Given the description of an element on the screen output the (x, y) to click on. 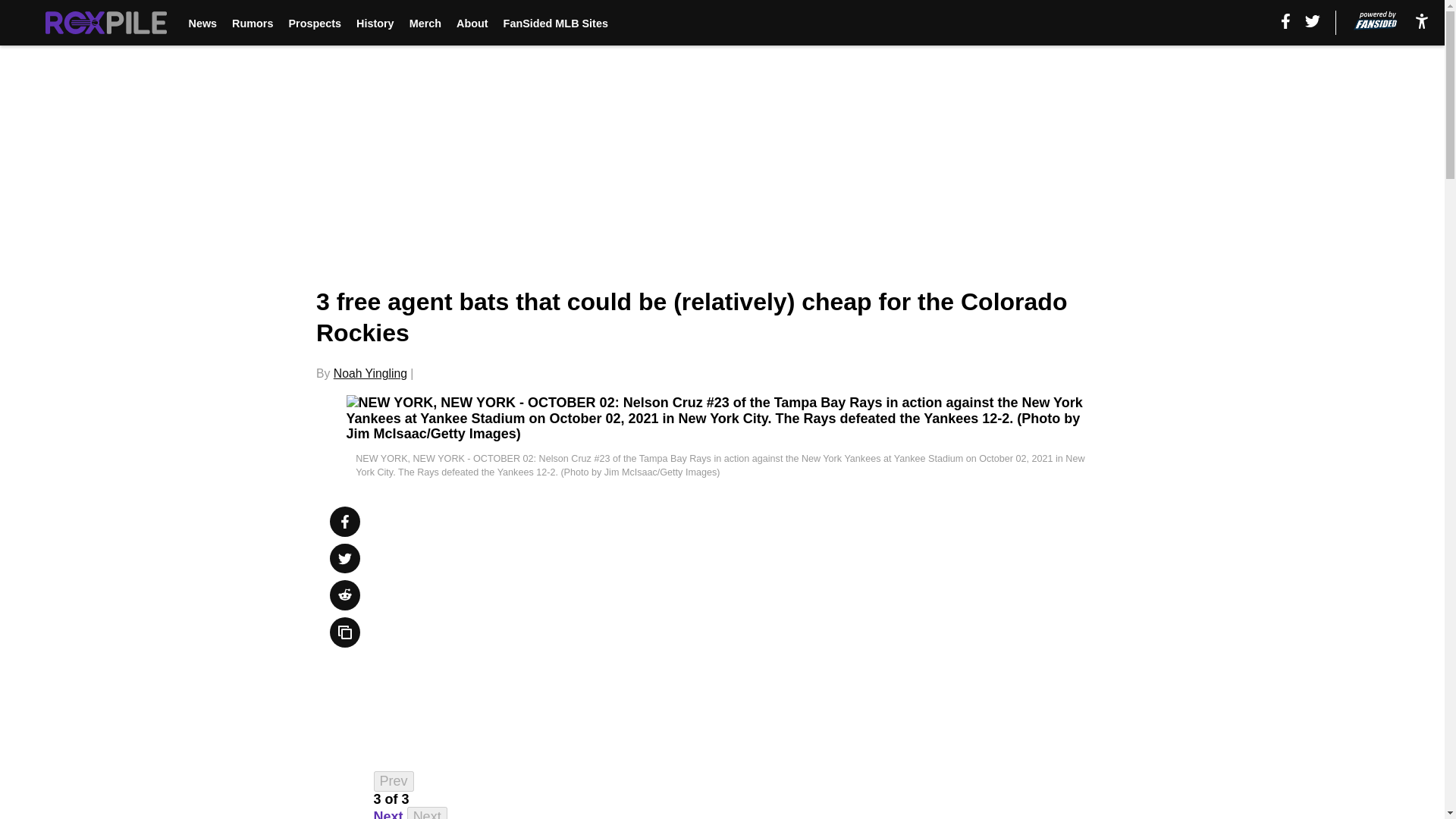
About (472, 23)
Next (388, 814)
Merch (425, 23)
History (375, 23)
Prospects (314, 23)
Rumors (252, 23)
News (201, 23)
FanSided MLB Sites (555, 23)
Noah Yingling (370, 373)
Prev (393, 781)
